Given the description of an element on the screen output the (x, y) to click on. 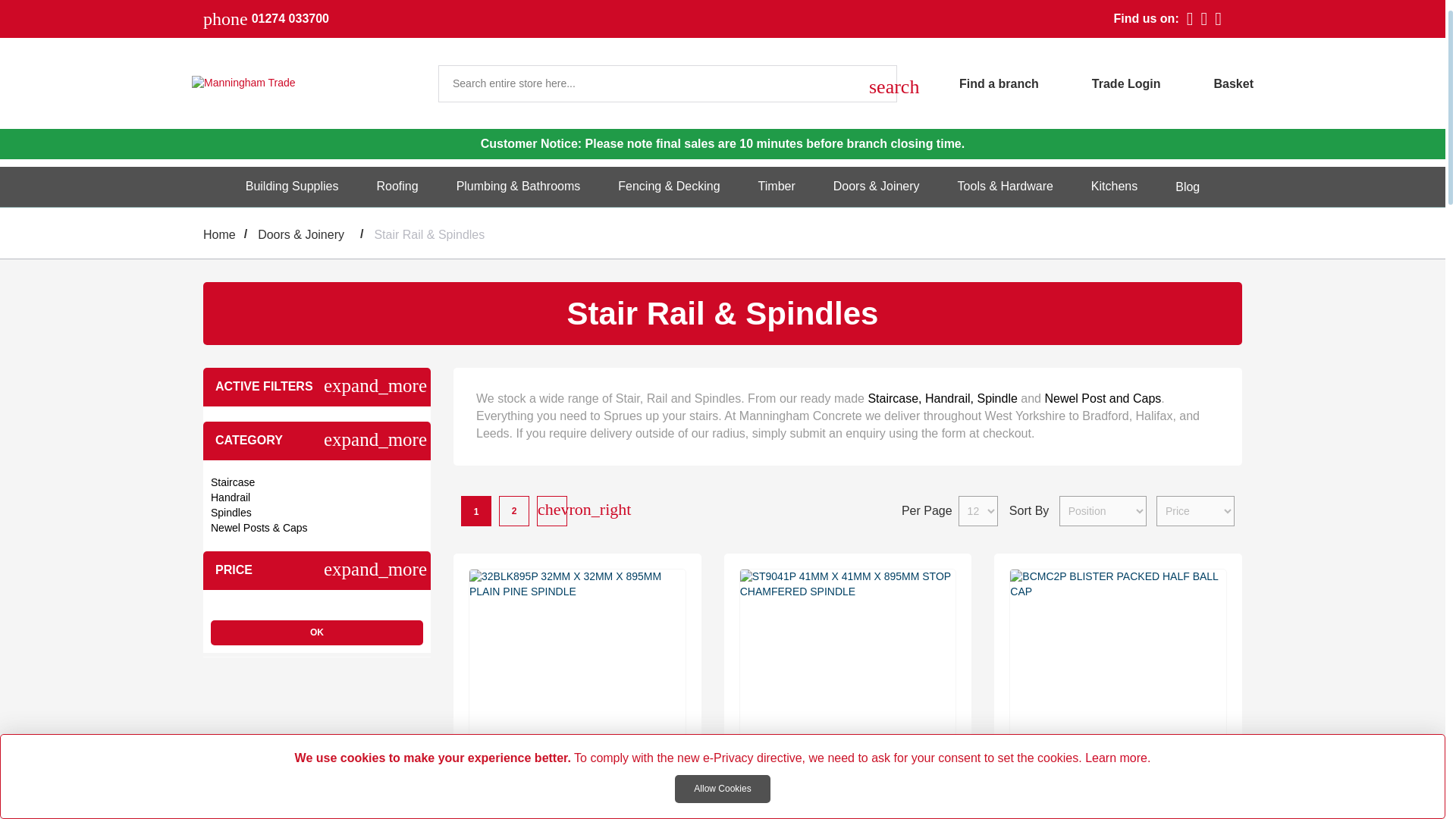
Basket (1233, 82)
Building Supplies (291, 186)
Search (877, 83)
Manningham Trade (302, 83)
Allow Cookies (722, 788)
Go to Home Page (219, 235)
Manningham (305, 83)
01274 033700 (290, 18)
Next (550, 509)
Trade Login (1099, 82)
My Account (1099, 82)
Find a branch (972, 82)
Learn more (1115, 757)
Find a branch (972, 82)
